Given the description of an element on the screen output the (x, y) to click on. 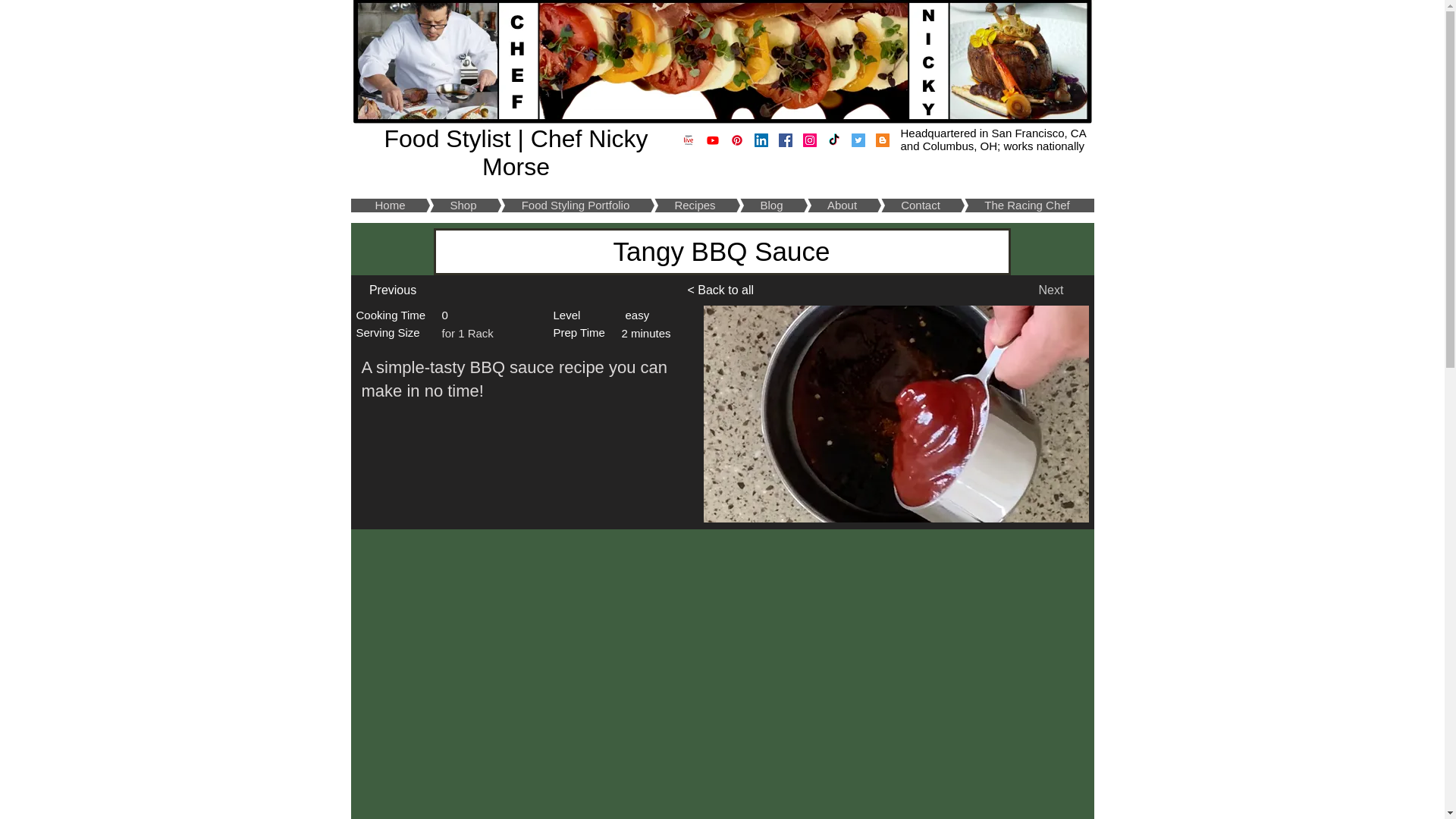
Next (1050, 289)
Shop (440, 205)
Home (389, 205)
About (819, 205)
Recipes (672, 205)
Contact (897, 205)
Previous (392, 289)
Blog (748, 205)
